Given the description of an element on the screen output the (x, y) to click on. 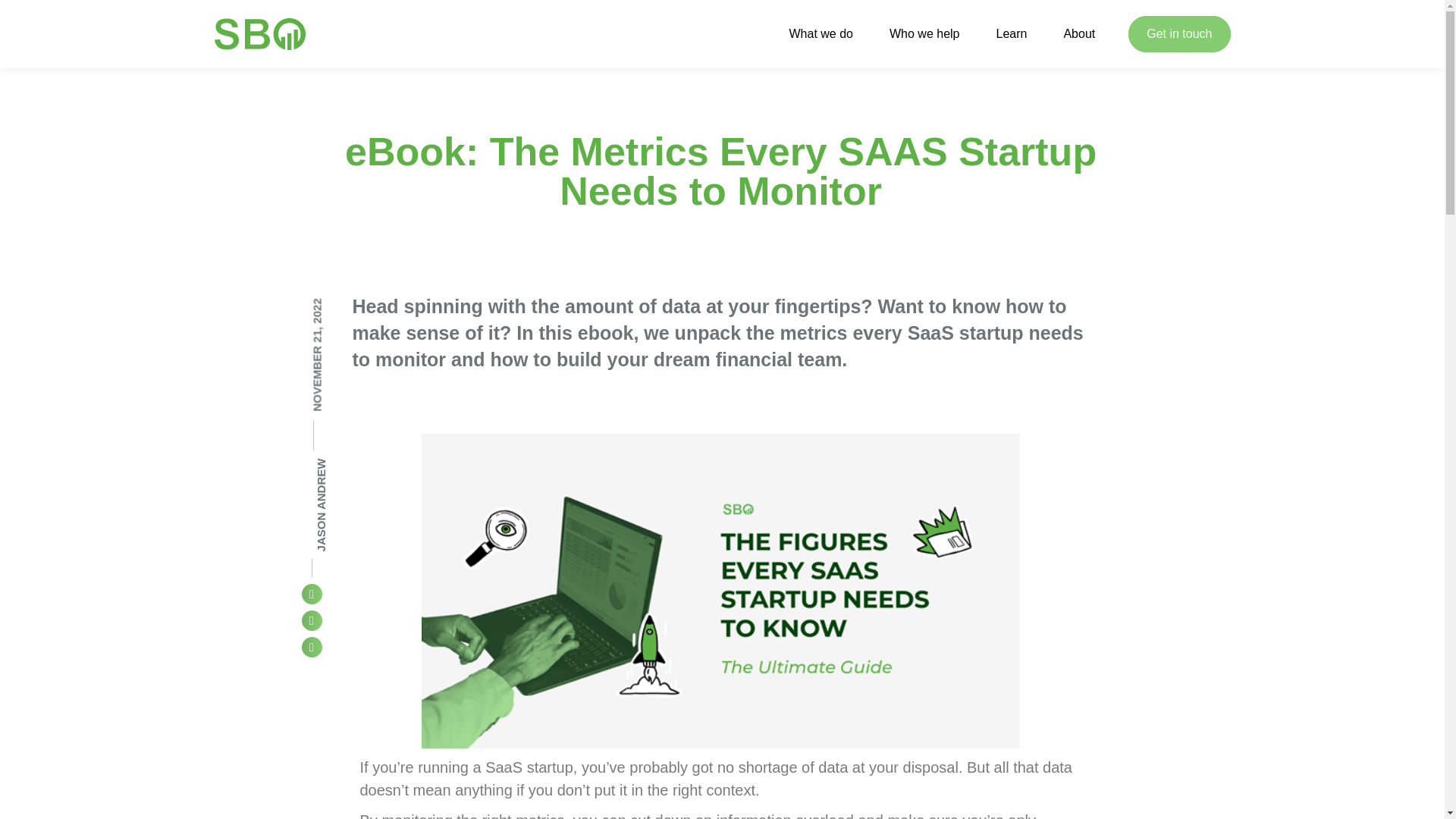
What we do (821, 33)
Learn (1010, 33)
Who we help (924, 33)
About (1078, 33)
Get in touch (1179, 33)
